Given the description of an element on the screen output the (x, y) to click on. 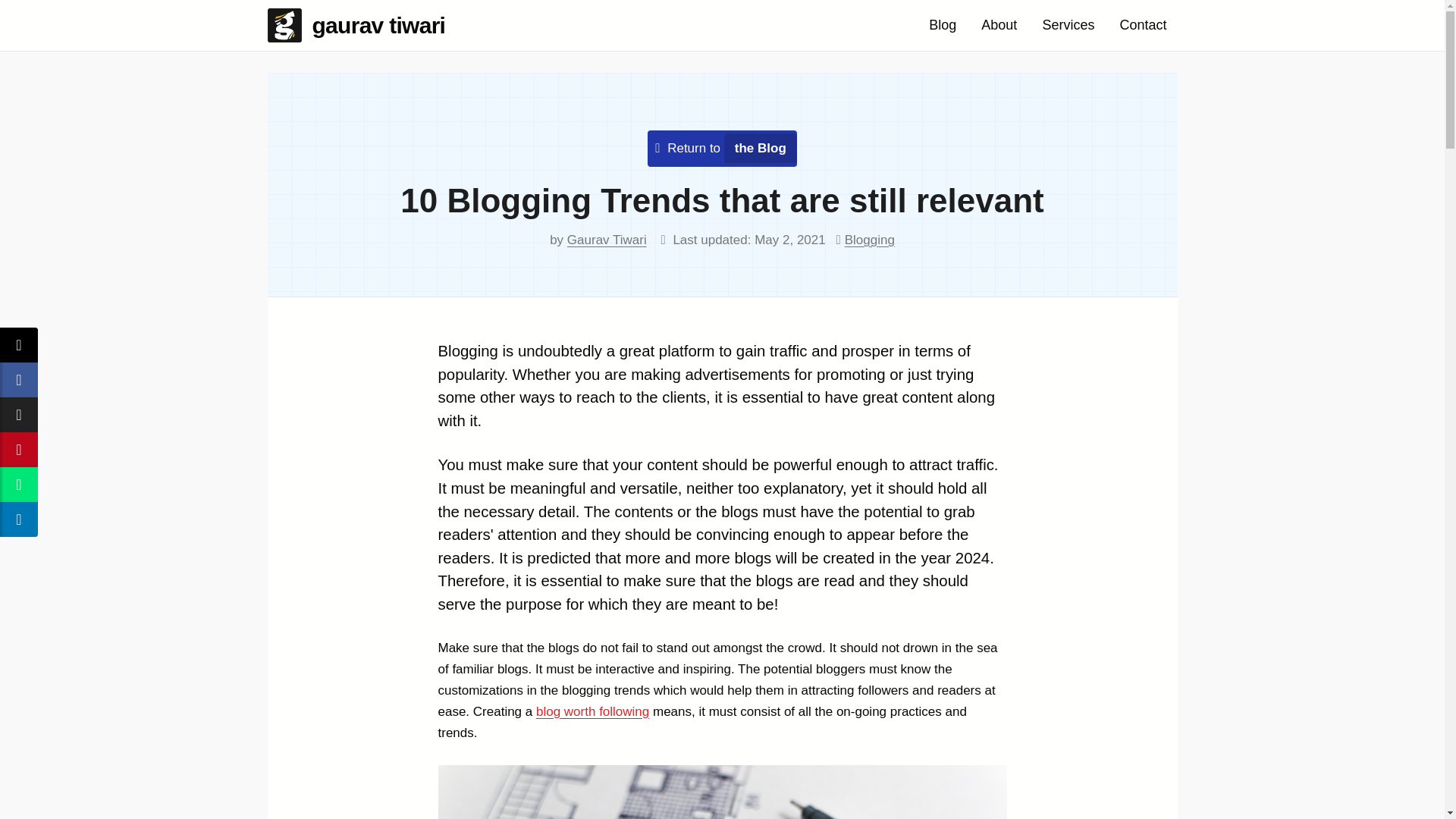
About (999, 25)
Services (1067, 25)
Contact (1142, 25)
Blogging (869, 239)
Blog (942, 25)
gaurav tiwari (360, 25)
blog worth following (592, 711)
Return to the Blog (725, 147)
